Given the description of an element on the screen output the (x, y) to click on. 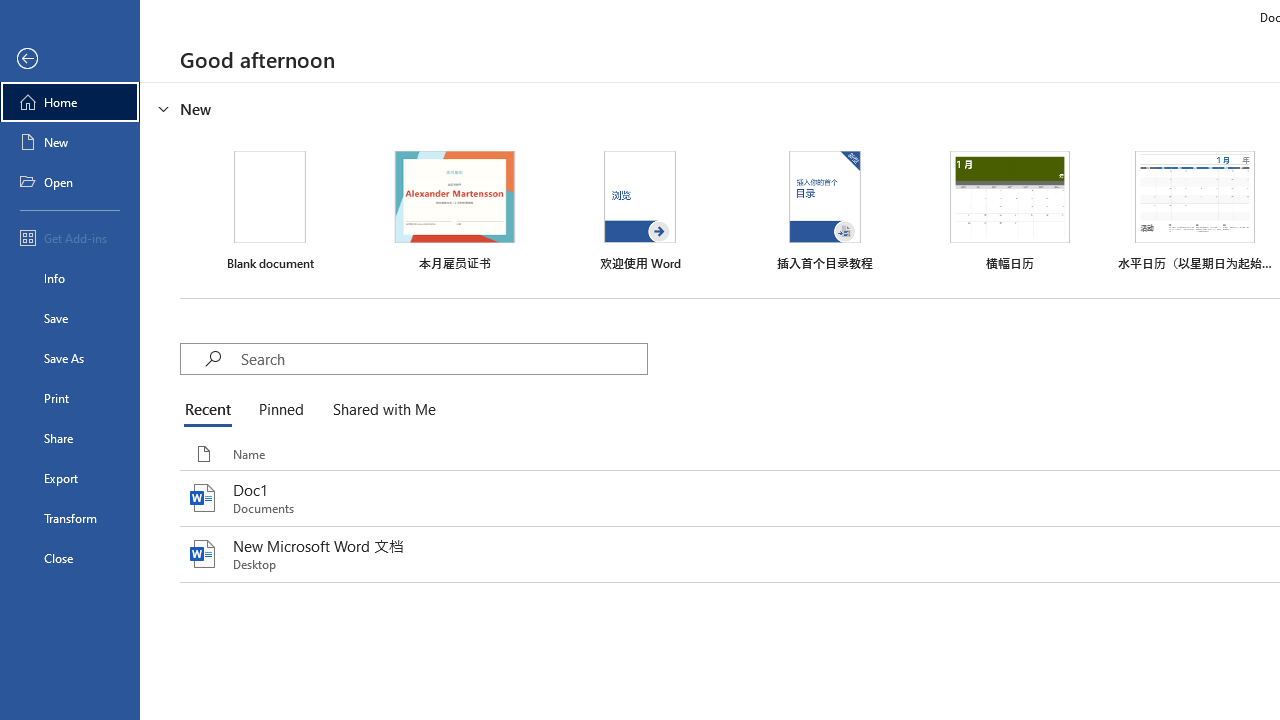
Save As (69, 357)
Get Add-ins (69, 237)
Hide or show region (164, 108)
Info (69, 277)
Open (69, 182)
